Given the description of an element on the screen output the (x, y) to click on. 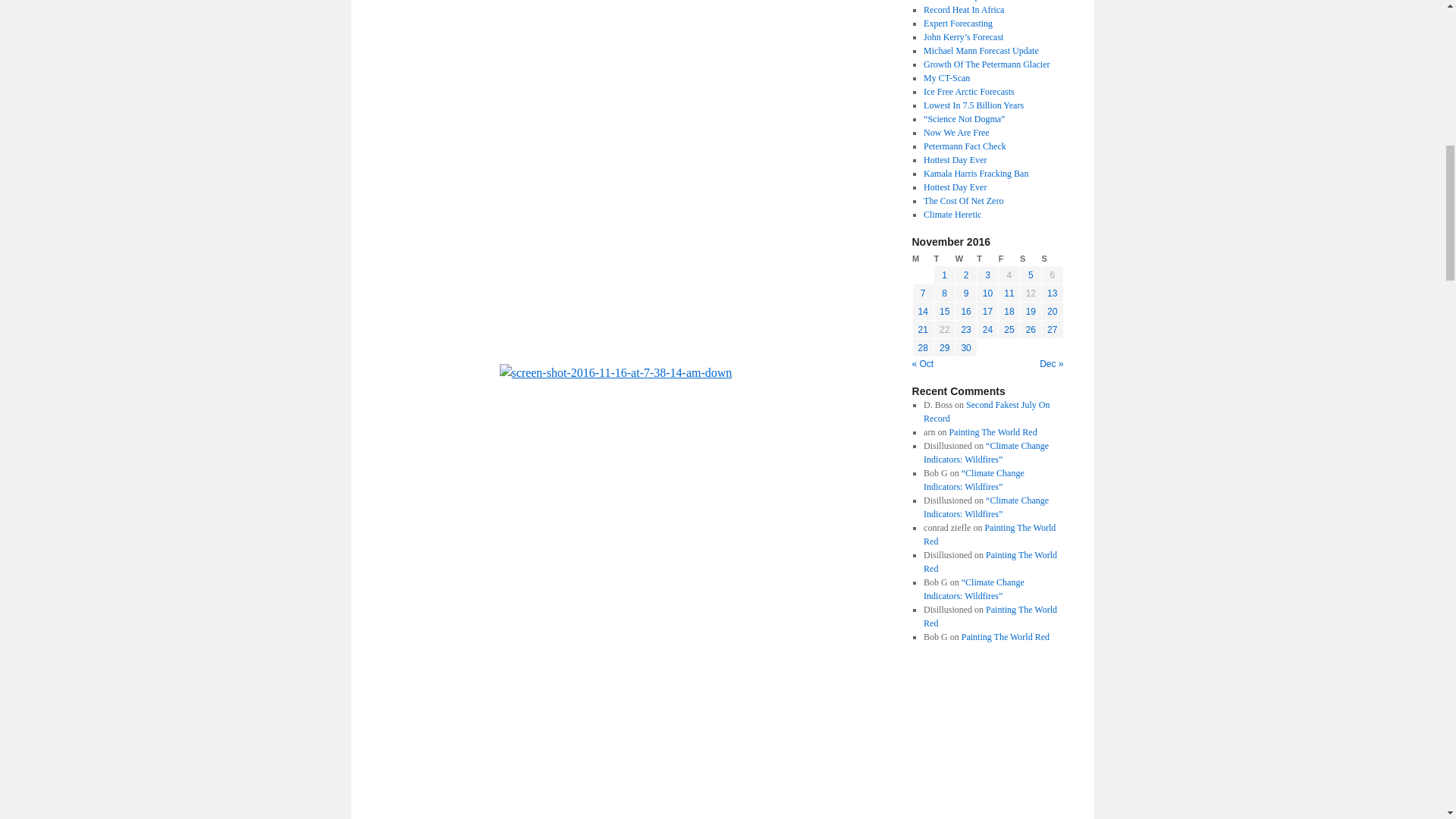
Thursday (986, 258)
Wednesday (965, 258)
Monday (922, 258)
Sunday (1052, 258)
Friday (1009, 258)
Saturday (1030, 258)
Tuesday (944, 258)
